Given the description of an element on the screen output the (x, y) to click on. 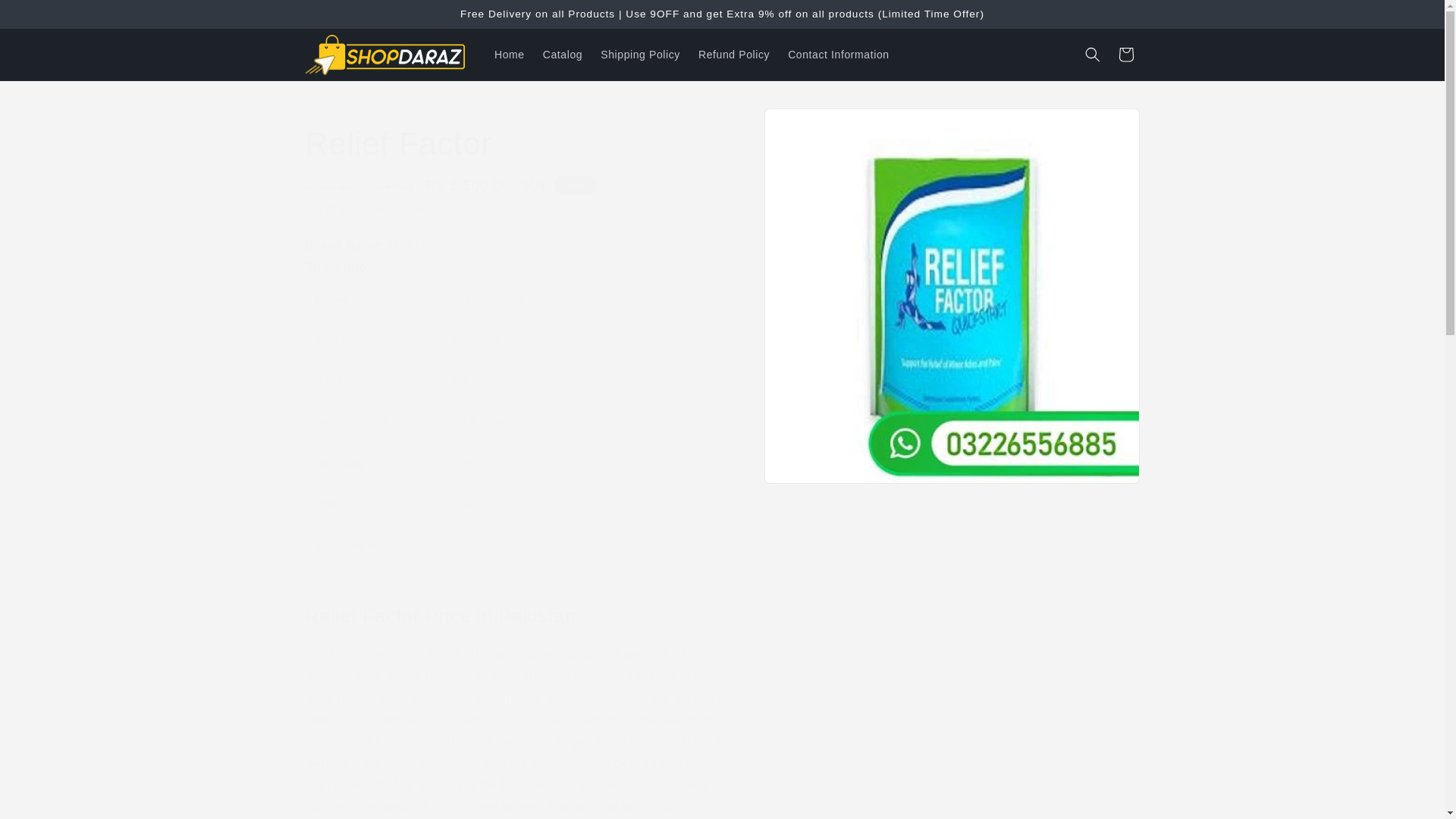
Refund Policy (733, 54)
Contact Information (838, 54)
Shipping Policy (639, 54)
Home (509, 54)
Catalog (562, 54)
Skip to content (45, 17)
Cart (1124, 54)
Skip to product information (809, 125)
Shipping (323, 208)
